Given the description of an element on the screen output the (x, y) to click on. 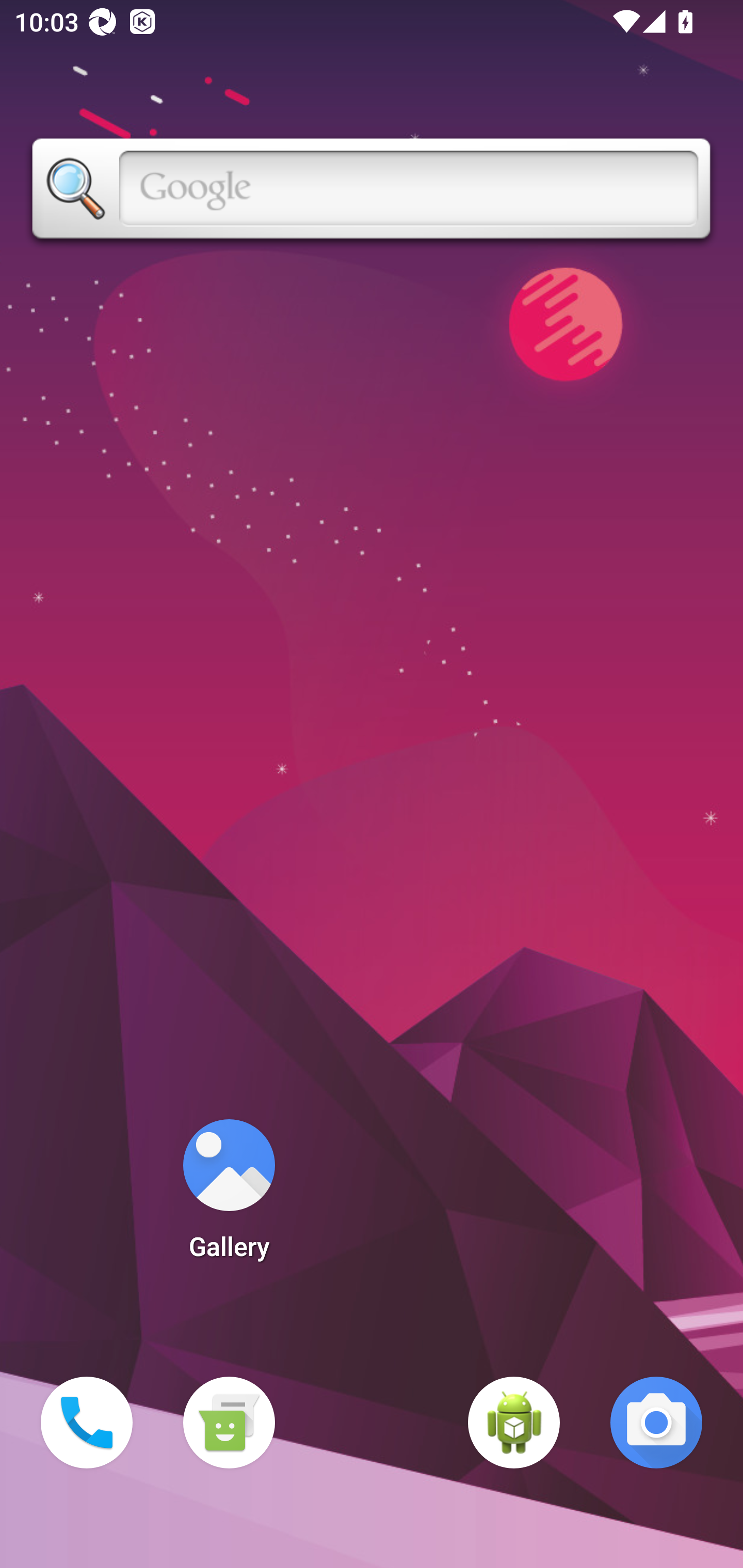
Gallery (228, 1195)
Phone (86, 1422)
Messaging (228, 1422)
WebView Browser Tester (513, 1422)
Camera (656, 1422)
